Given the description of an element on the screen output the (x, y) to click on. 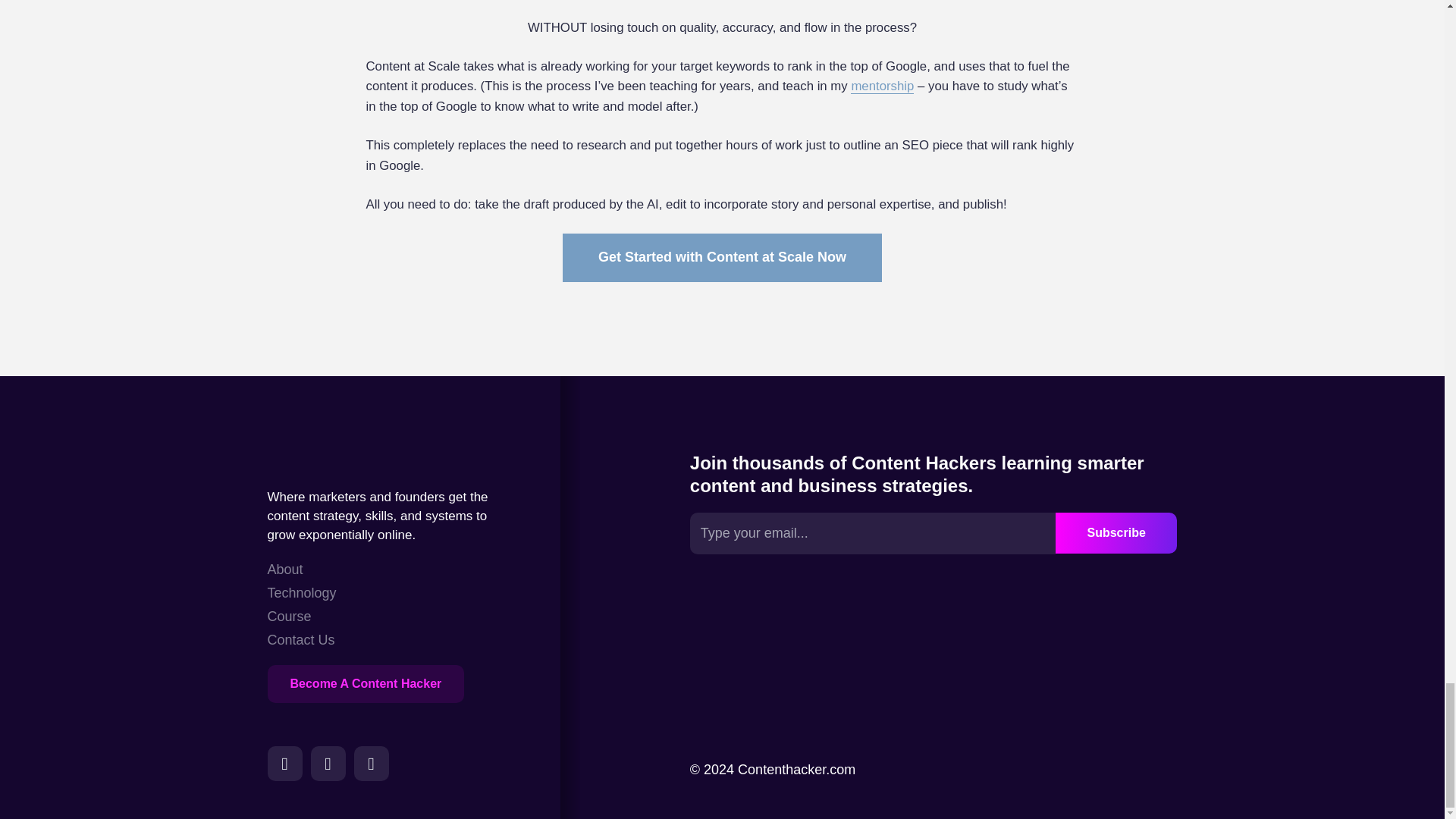
About (301, 569)
Become A Content Hacker (365, 683)
Subscribe (1116, 532)
Get Started with Content at Scale Now (722, 257)
mentorship (882, 86)
Contact Us (301, 640)
Technology (301, 592)
Course (301, 616)
